Given the description of an element on the screen output the (x, y) to click on. 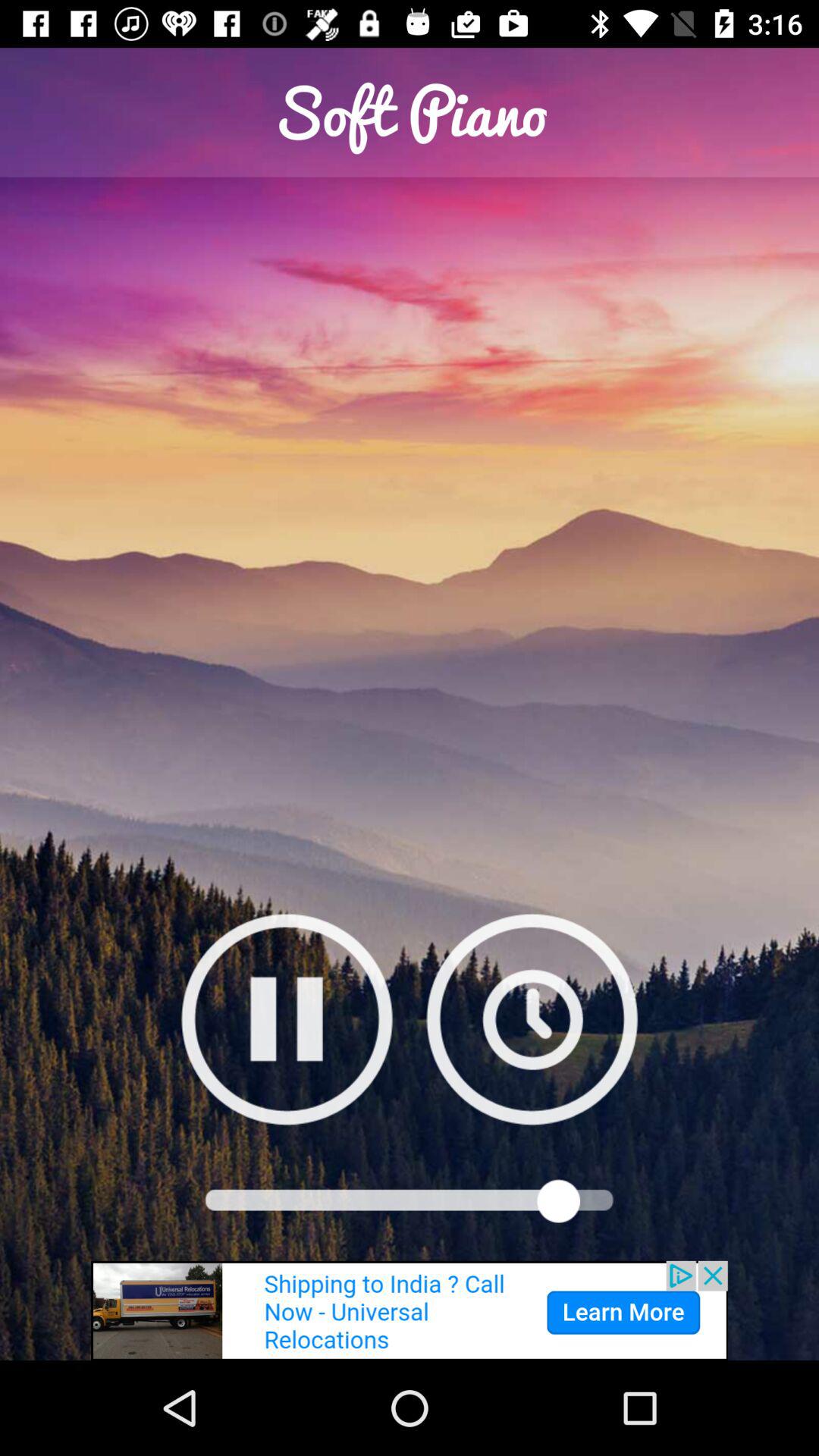
click timer button (531, 1018)
